Given the description of an element on the screen output the (x, y) to click on. 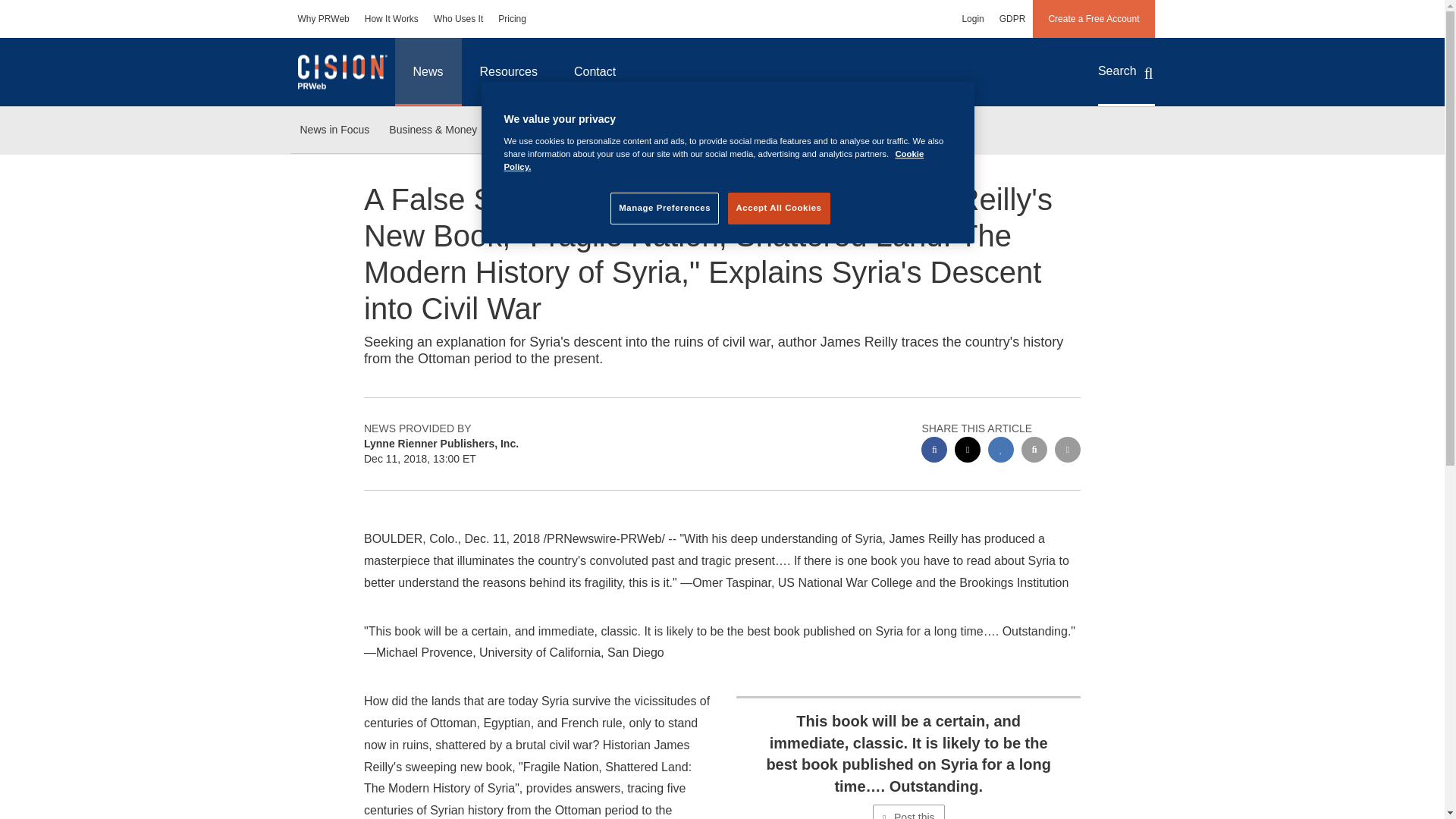
News in Focus (333, 130)
